Given the description of an element on the screen output the (x, y) to click on. 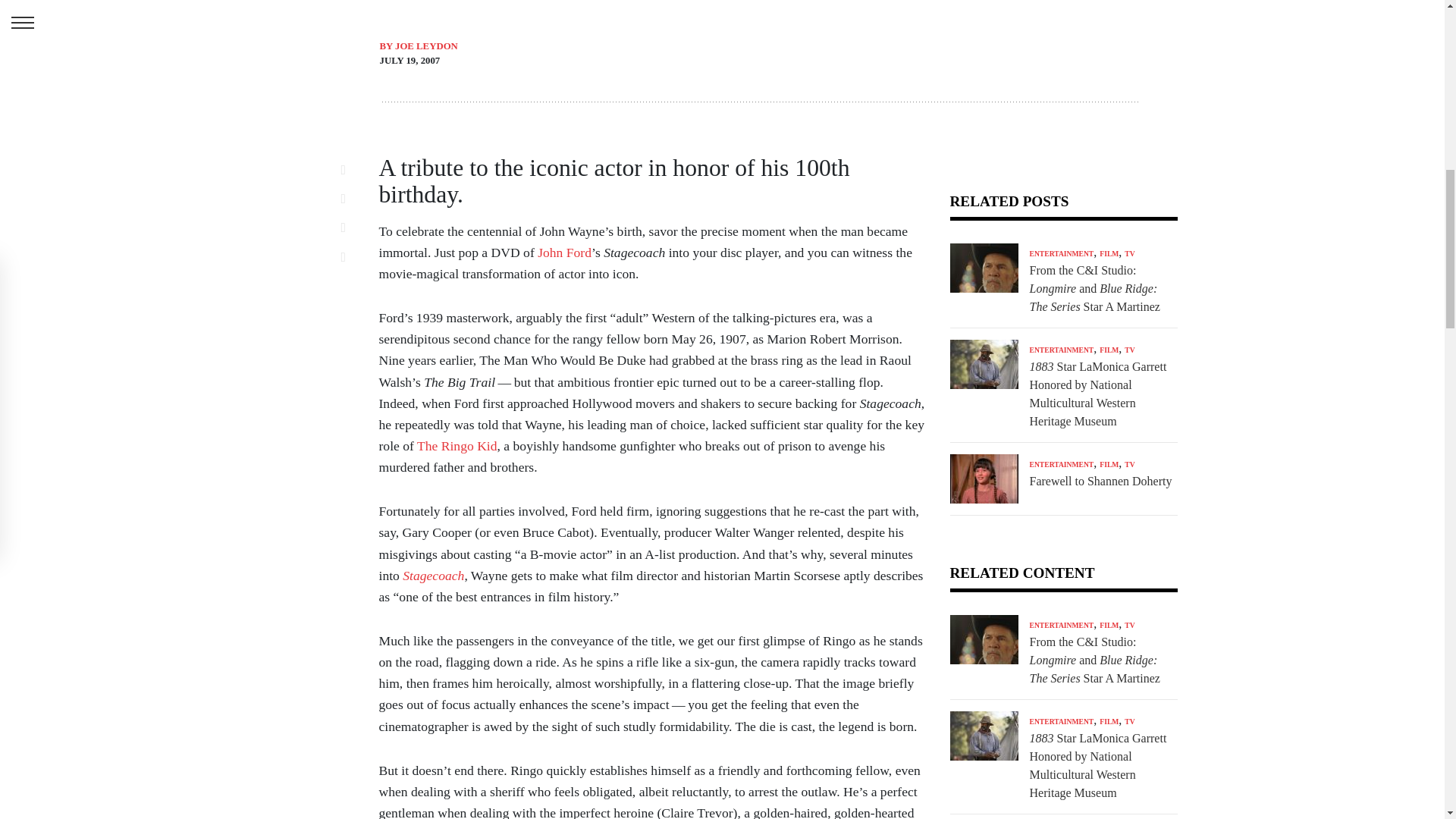
Tweet This Post (352, 198)
Share by Email (352, 255)
Share on Facebook (352, 169)
